Given the description of an element on the screen output the (x, y) to click on. 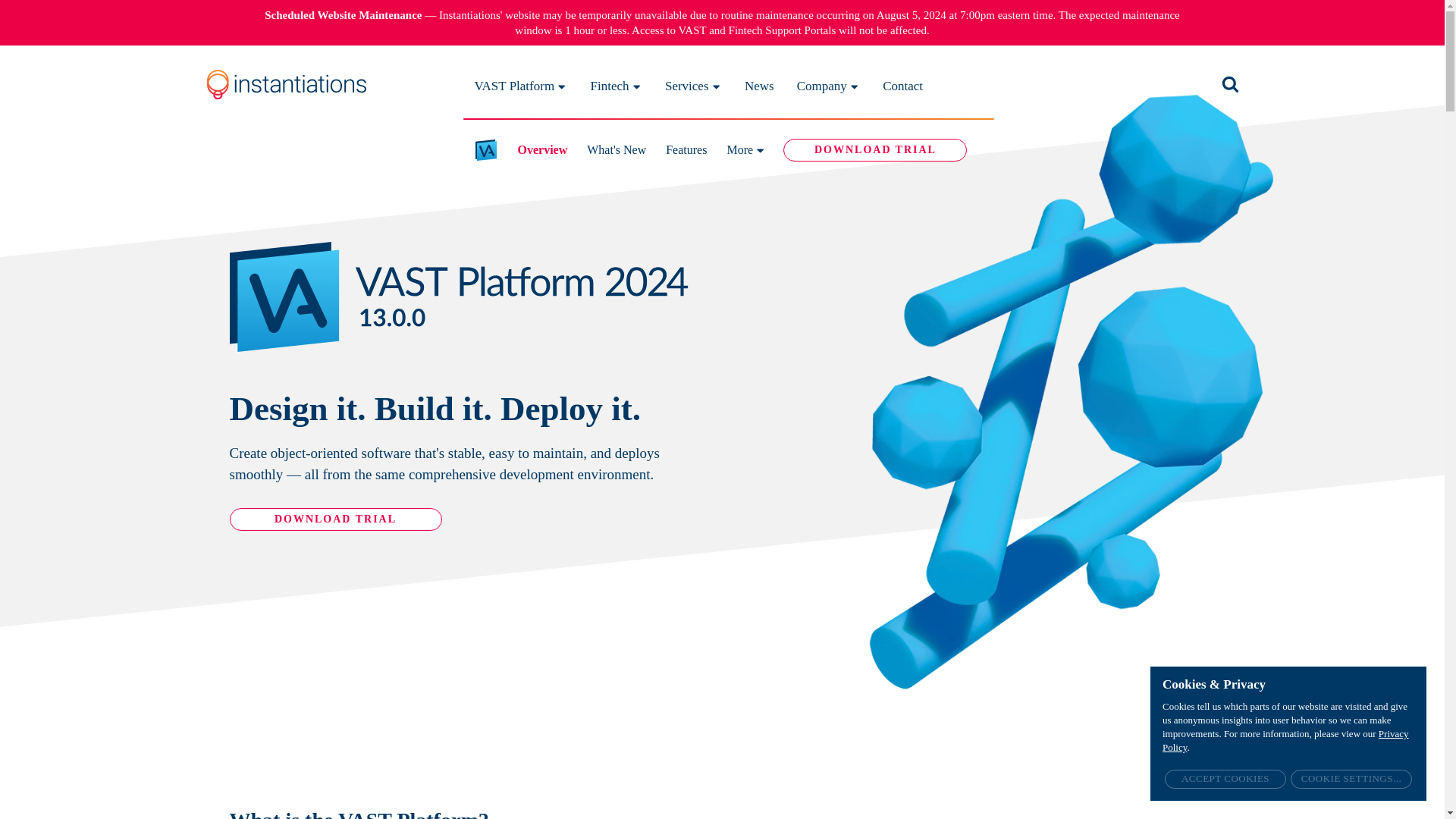
VAST Platform (520, 84)
What's New (616, 149)
Overview (541, 149)
Features (685, 149)
News (759, 84)
Services (693, 84)
Company (828, 84)
Fintech (616, 84)
Contact (902, 84)
